Given the description of an element on the screen output the (x, y) to click on. 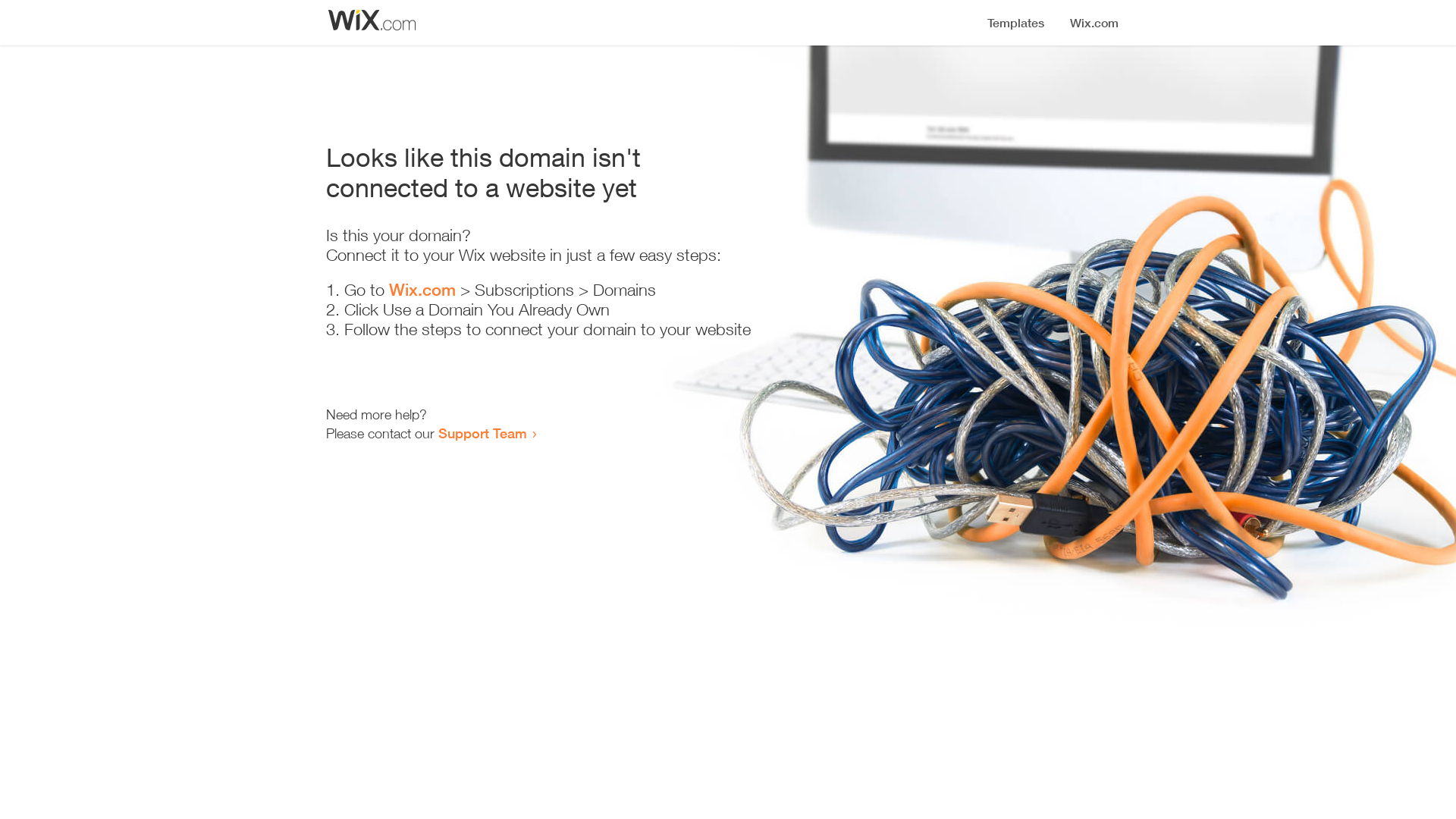
Wix.com Element type: text (422, 289)
Support Team Element type: text (482, 432)
